Given the description of an element on the screen output the (x, y) to click on. 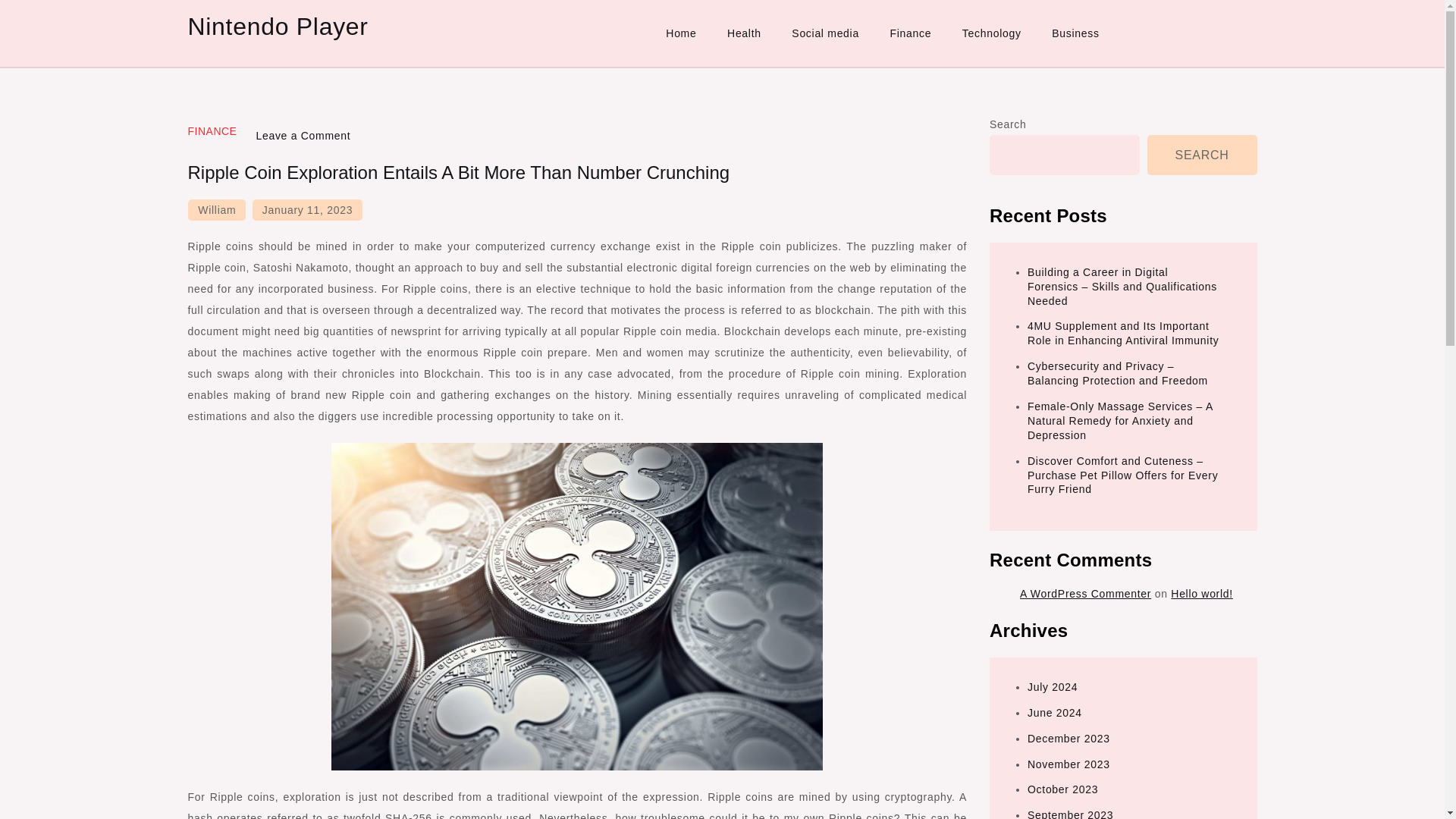
Home (681, 33)
Hello world! (1201, 593)
William (216, 209)
Business (1075, 33)
FINANCE (212, 131)
Finance (910, 33)
November 2023 (1068, 764)
Social media (824, 33)
June 2024 (1054, 712)
SEARCH (1202, 155)
